Given the description of an element on the screen output the (x, y) to click on. 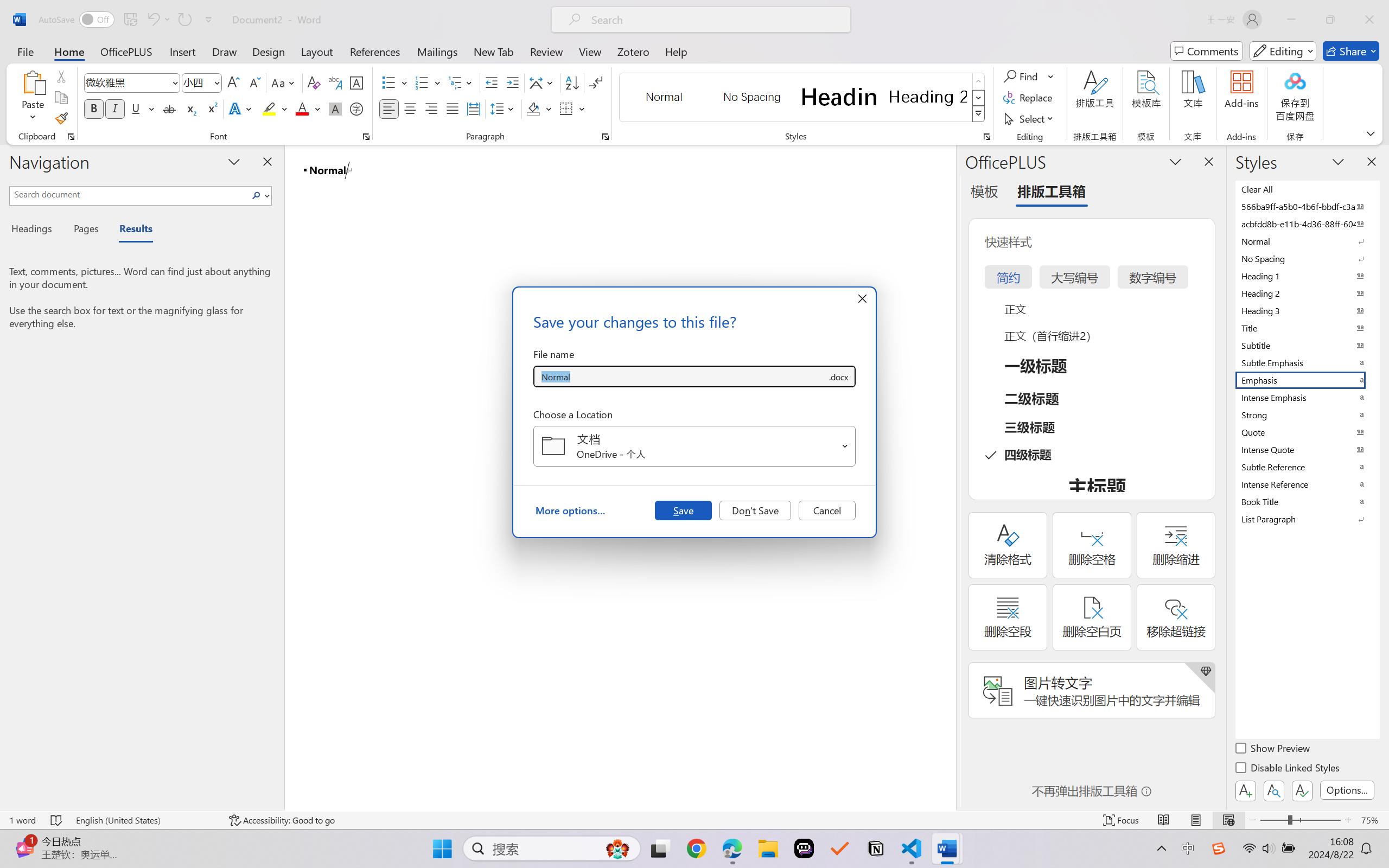
Draw (224, 51)
Cut (60, 75)
Class: NetUIScrollBar (948, 477)
Align Right (431, 108)
Justify (452, 108)
Strikethrough (169, 108)
Clear All (1306, 188)
Pages (85, 229)
Shading (539, 108)
Zoom In (1348, 819)
